Given the description of an element on the screen output the (x, y) to click on. 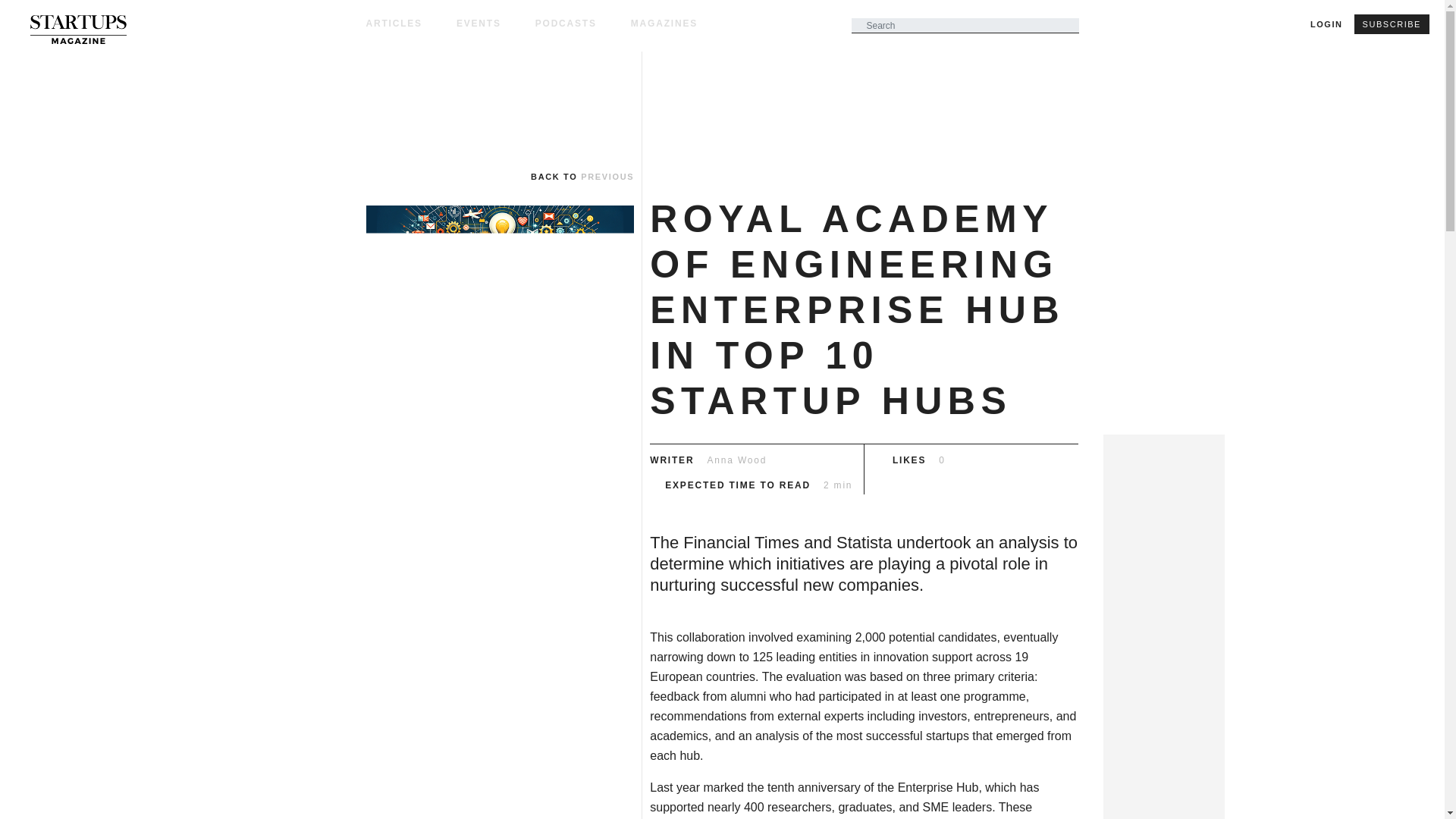
Instagram (22, 638)
Apply (1107, 46)
RSS Feed (22, 795)
PODCASTS (582, 23)
EVENTS (496, 23)
Anna Wood (737, 460)
LinkedIn (22, 677)
Magazines (663, 23)
LOGIN (1326, 24)
Skip to main content (721, 52)
Youtube (22, 756)
SUBSCRIBE (1391, 24)
Events (496, 23)
Podcasts (582, 23)
ARTICLES (410, 23)
